Given the description of an element on the screen output the (x, y) to click on. 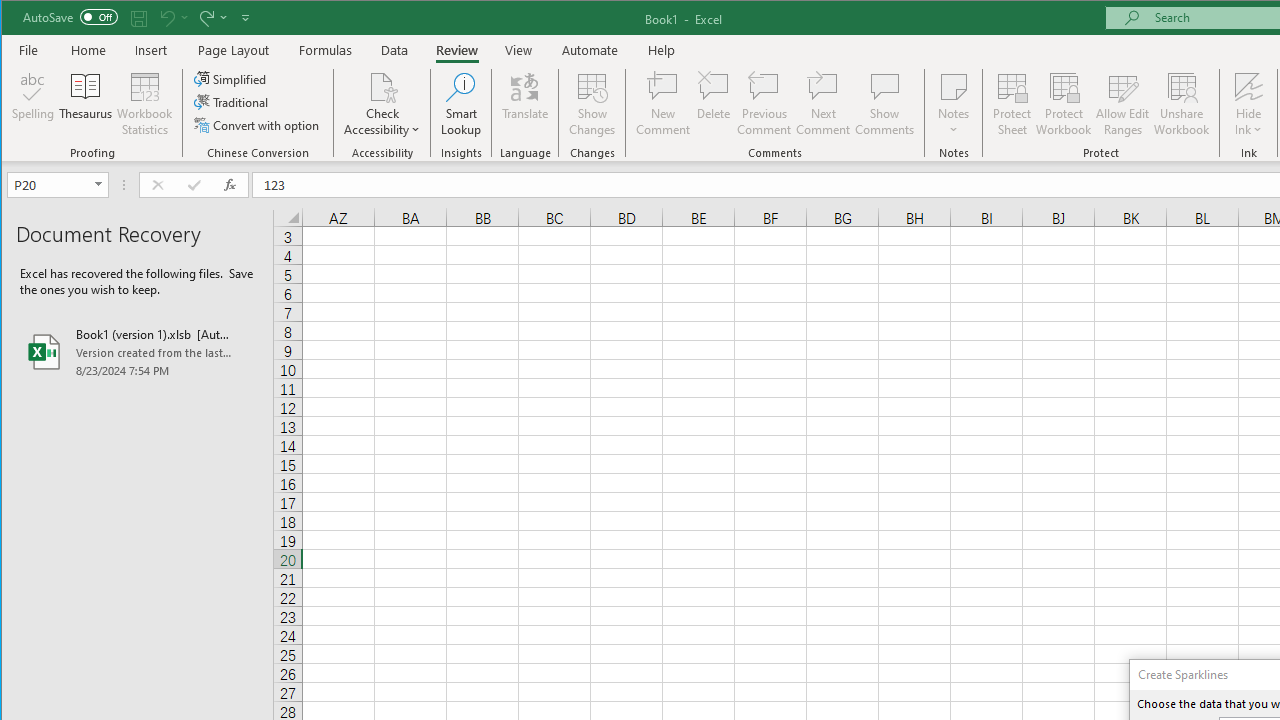
Name Box (49, 184)
Open (99, 184)
Insert (151, 50)
